Given the description of an element on the screen output the (x, y) to click on. 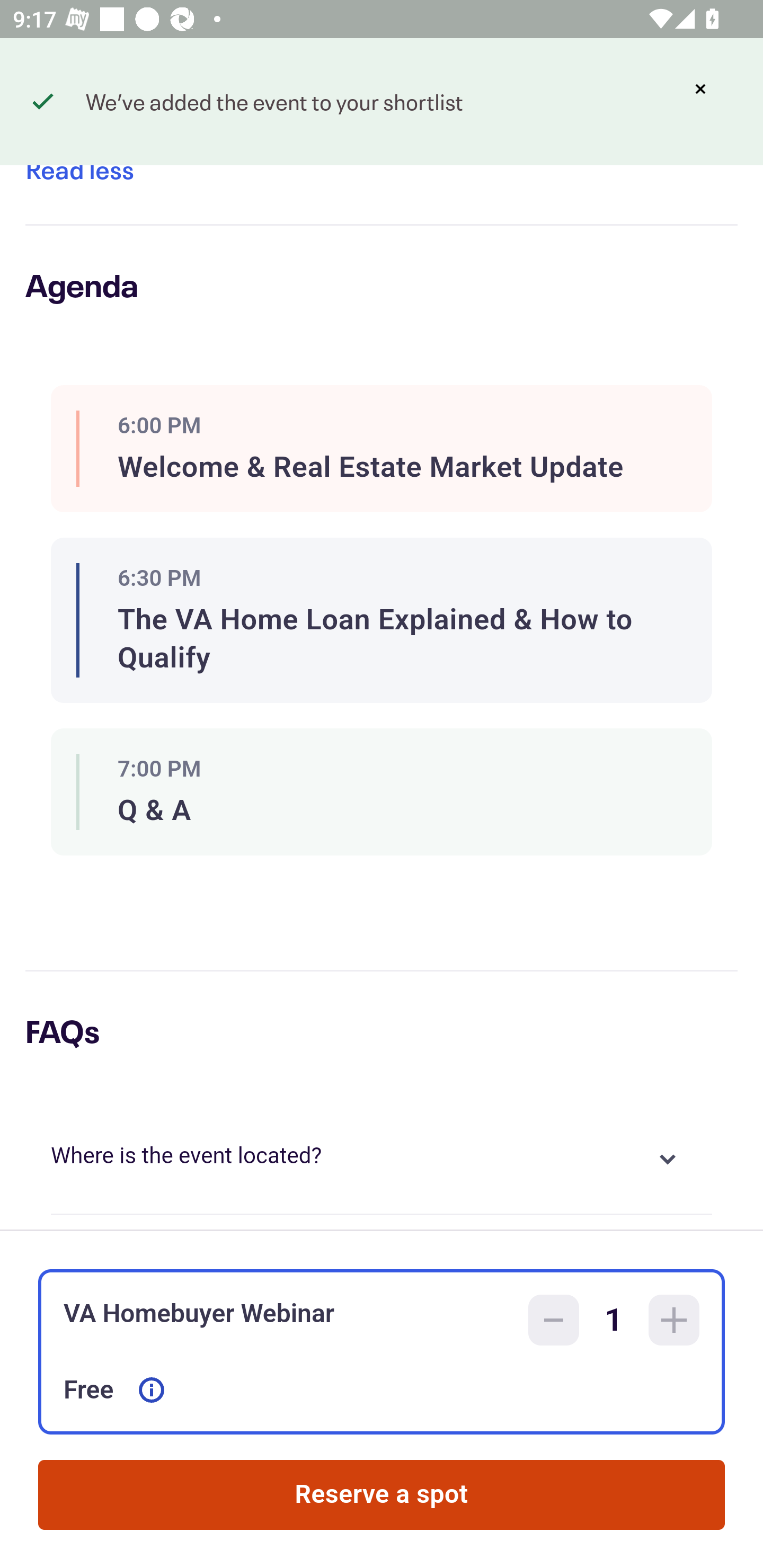
Dismiss notification (700, 89)
Watch on YouTube (93, 100)
Read less (79, 172)
Where is the event located? (381, 1159)
Decrease (553, 1320)
Increase (673, 1320)
Show more information (151, 1389)
Reserve a spot (381, 1494)
